Given the description of an element on the screen output the (x, y) to click on. 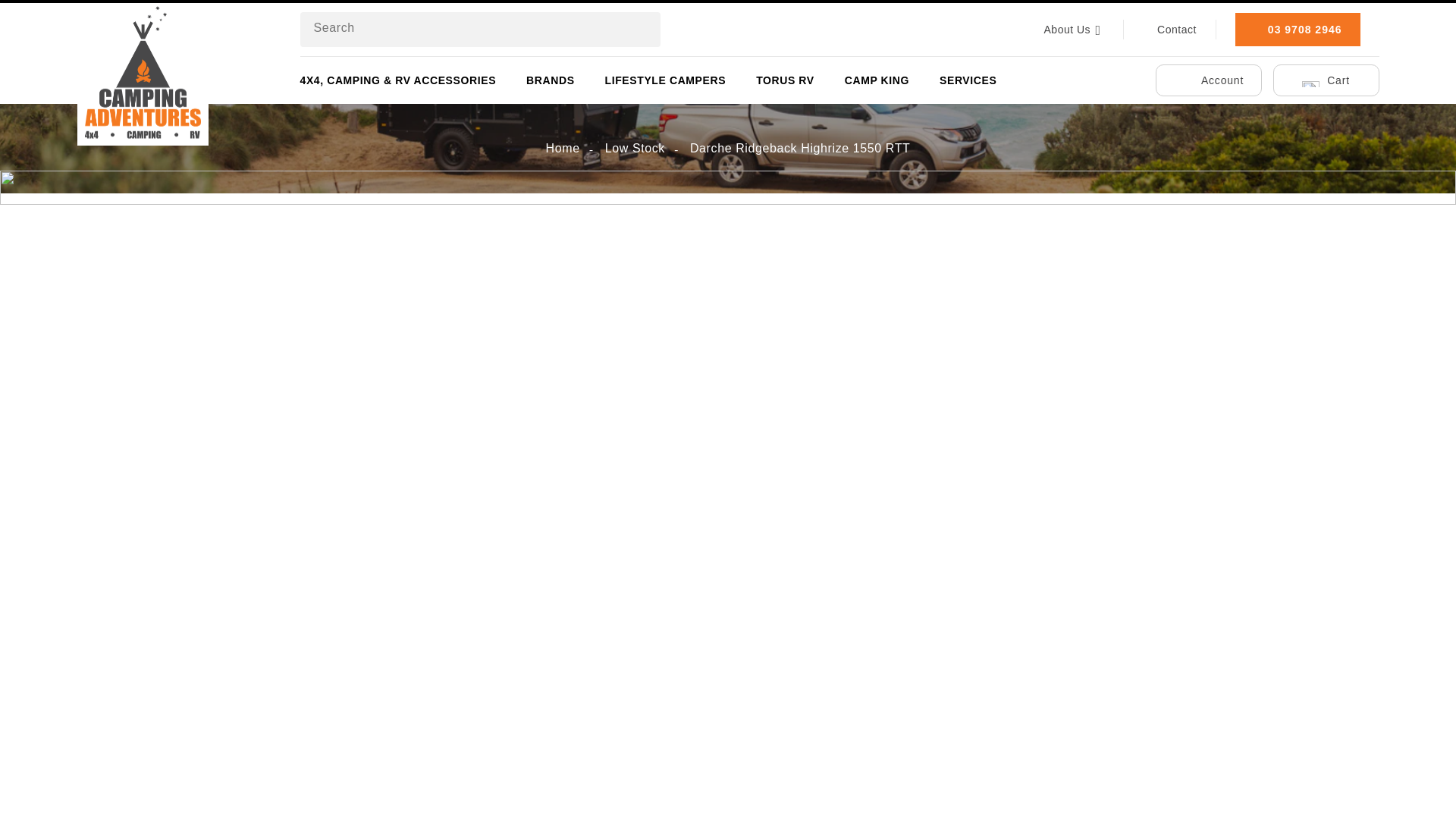
BRANDS (550, 80)
About Us (1074, 29)
Contact (1169, 29)
03 9708 2946 (1296, 29)
